Given the description of an element on the screen output the (x, y) to click on. 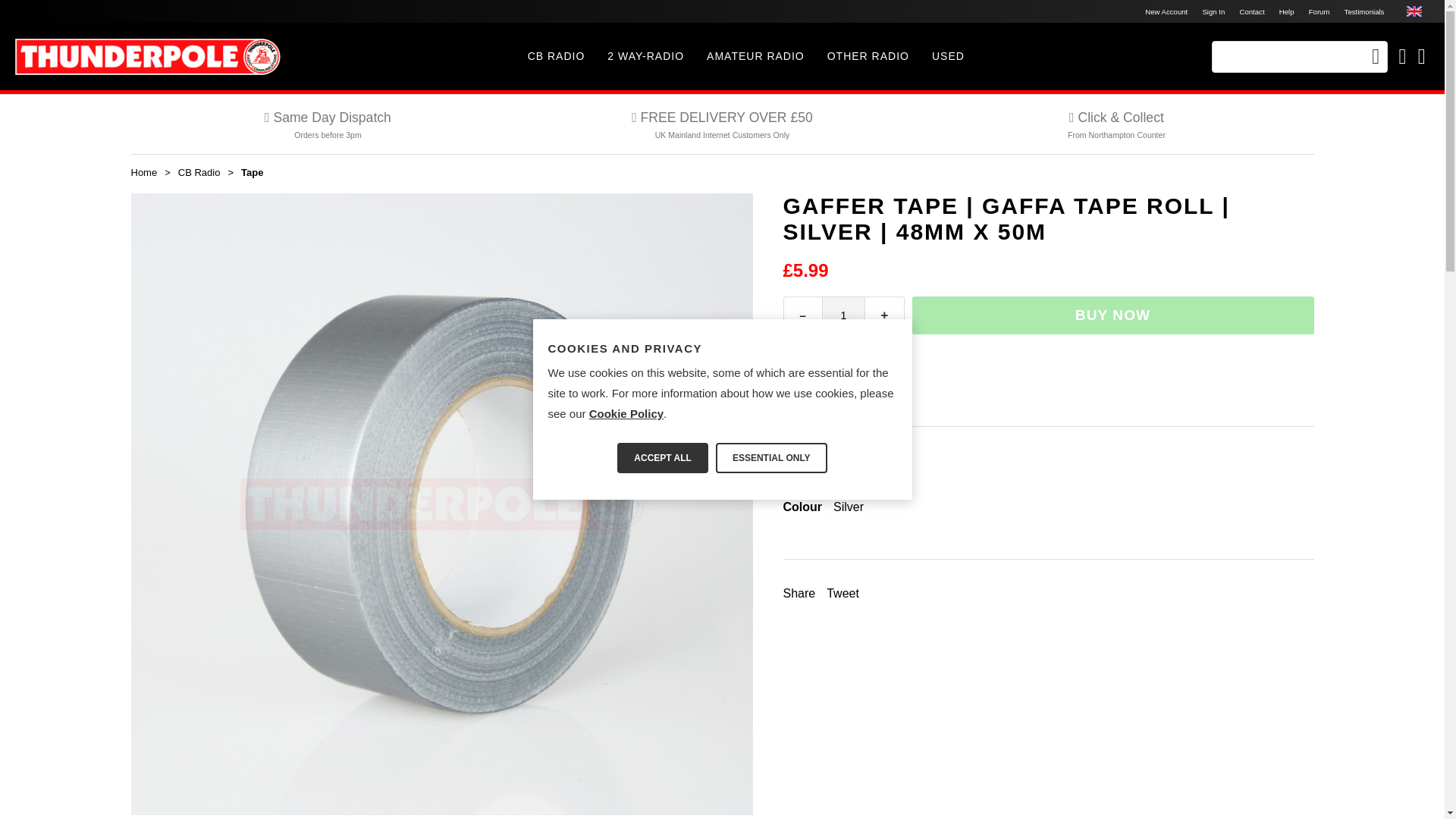
1 (844, 315)
CB RADIO (556, 56)
Forum (1318, 11)
Contact (1251, 11)
New Account (1166, 11)
Sign In (1213, 11)
Testimonials (1363, 11)
Go (1374, 55)
Help (1286, 11)
